Given the description of an element on the screen output the (x, y) to click on. 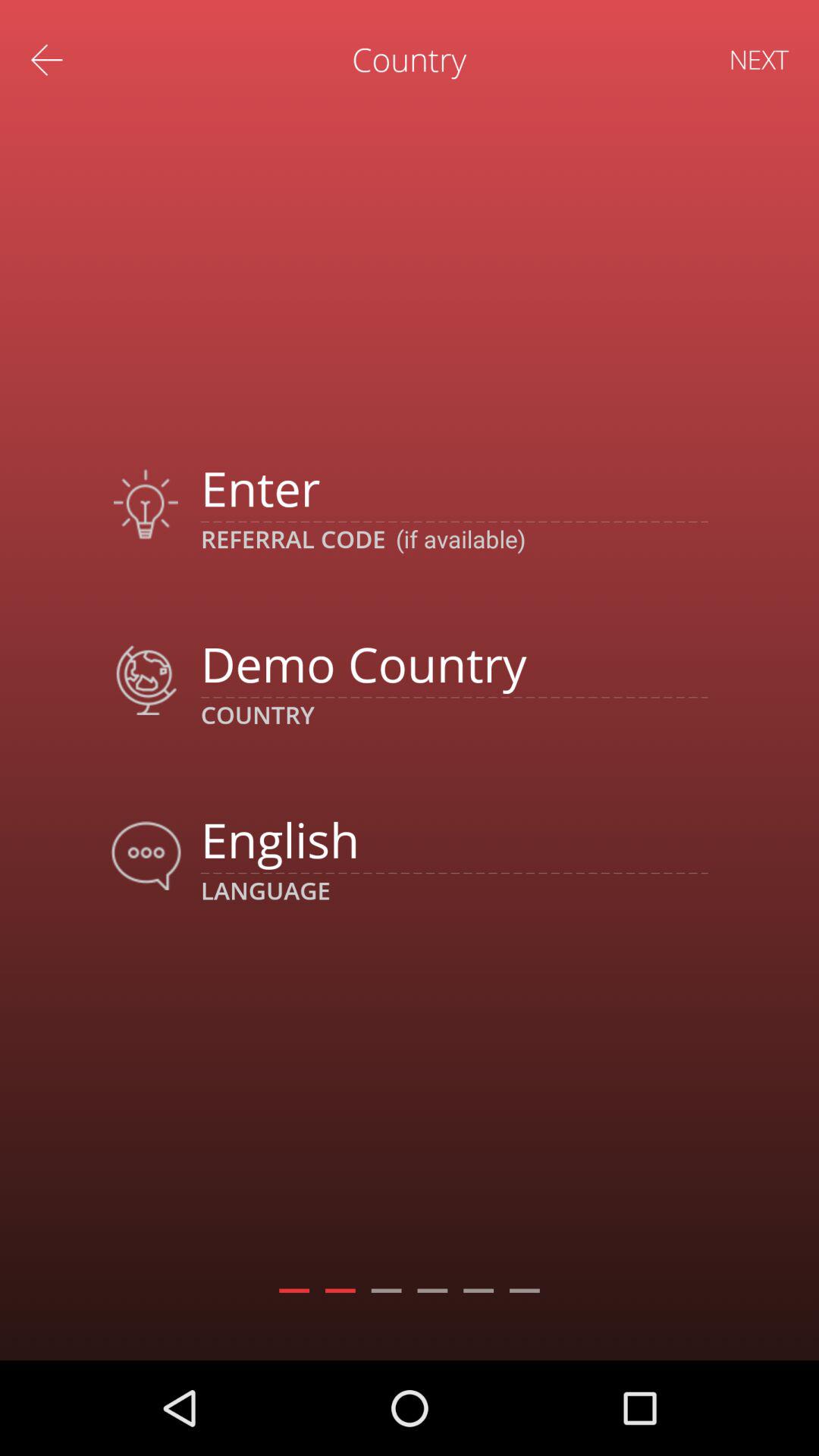
launch the app above the english app (454, 663)
